Given the description of an element on the screen output the (x, y) to click on. 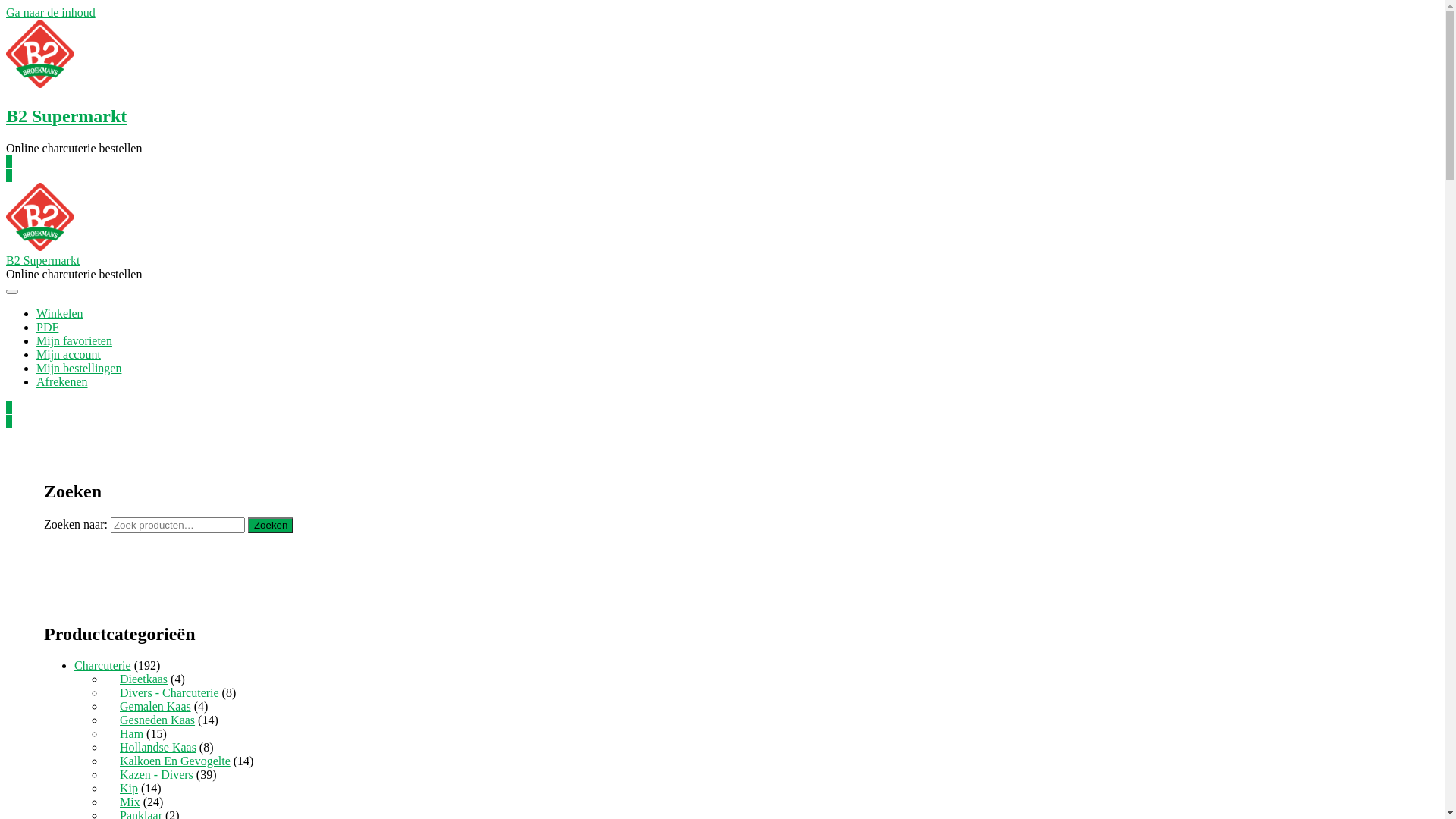
0 Element type: text (9, 175)
0 Element type: text (9, 161)
PDF Element type: text (47, 326)
Gemalen Kaas Element type: text (155, 705)
Kip Element type: text (128, 787)
Afrekenen Element type: text (61, 381)
Zoeken Element type: text (270, 525)
B2 Supermarkt Element type: text (66, 115)
0 Element type: text (9, 420)
Mijn account Element type: text (68, 354)
Gesneden Kaas Element type: text (156, 719)
Dieetkaas Element type: text (143, 678)
Hollandse Kaas Element type: text (157, 746)
Kazen - Divers Element type: text (156, 774)
B2 Supermarkt Element type: text (42, 260)
Divers - Charcuterie Element type: text (169, 692)
Ham Element type: text (131, 733)
Mijn favorieten Element type: text (74, 340)
0 Element type: text (9, 407)
Ga naar de inhoud Element type: text (50, 12)
Mix Element type: text (129, 801)
Kalkoen En Gevogelte Element type: text (174, 760)
Charcuterie Element type: text (102, 664)
Winkelen Element type: text (59, 313)
Mijn bestellingen Element type: text (78, 367)
